Given the description of an element on the screen output the (x, y) to click on. 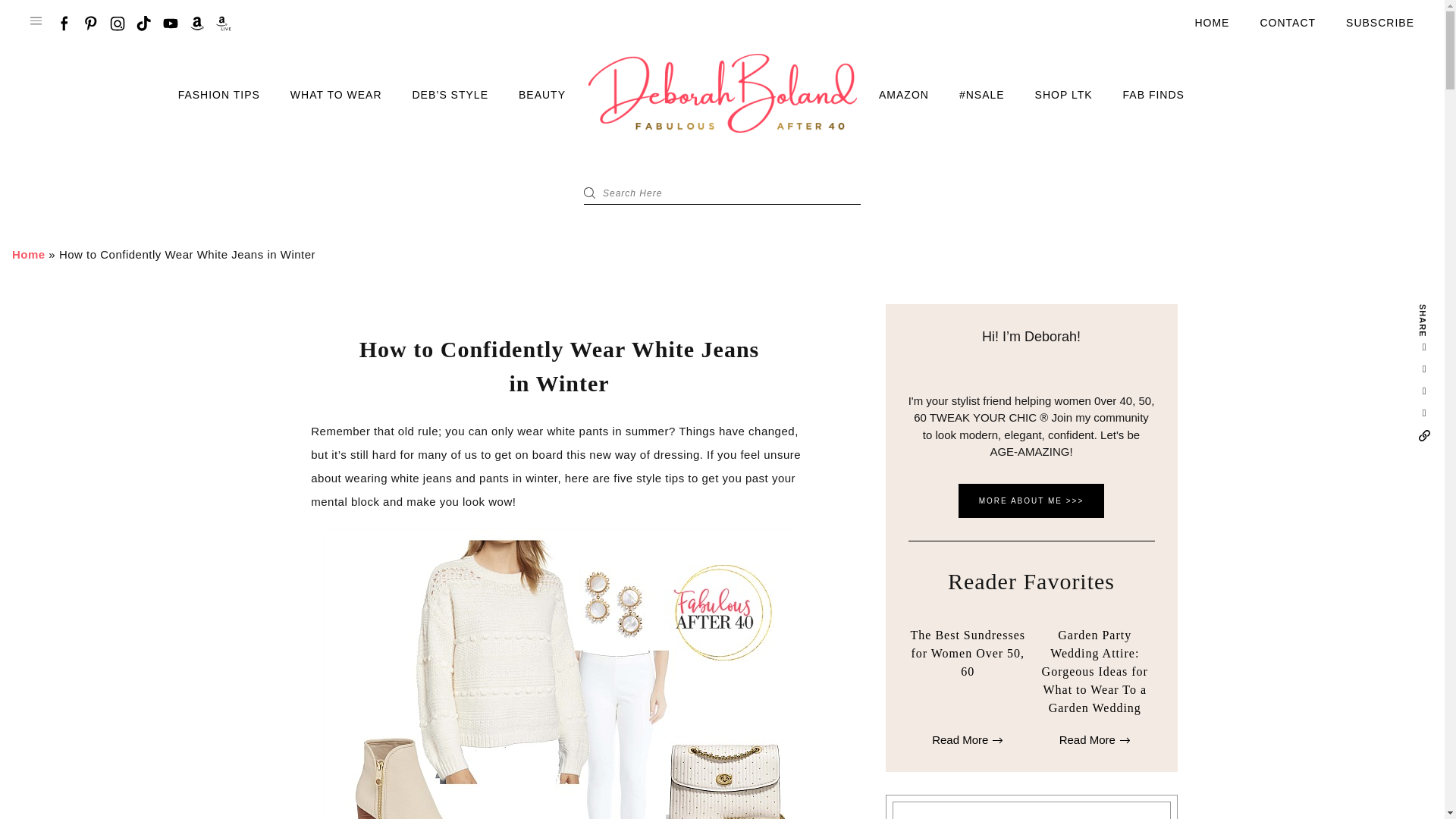
CONTACT (1287, 23)
HOME (1210, 23)
SUBSCRIBE (1379, 23)
